Given the description of an element on the screen output the (x, y) to click on. 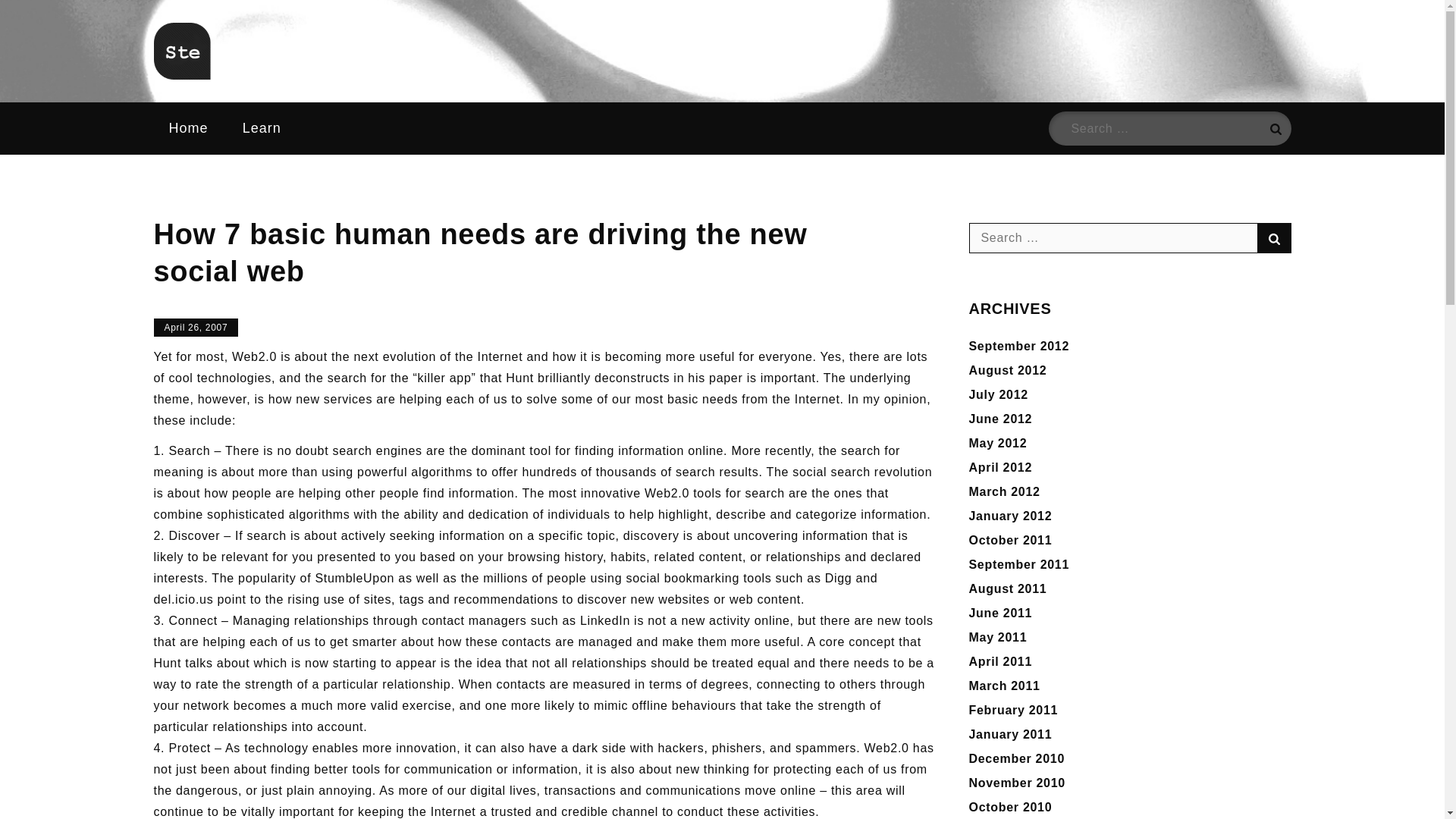
January 2012 (1010, 515)
Learn (262, 127)
April 2011 (1000, 661)
Home (187, 127)
September 2011 (1019, 563)
August 2011 (1007, 588)
September 2012 (1019, 345)
January 2011 (1010, 734)
Ste Drayton (251, 96)
June 2012 (1000, 418)
April 2012 (1000, 467)
October 2010 (1010, 807)
November 2010 (1017, 782)
Search (1274, 237)
June 2011 (1000, 612)
